Given the description of an element on the screen output the (x, y) to click on. 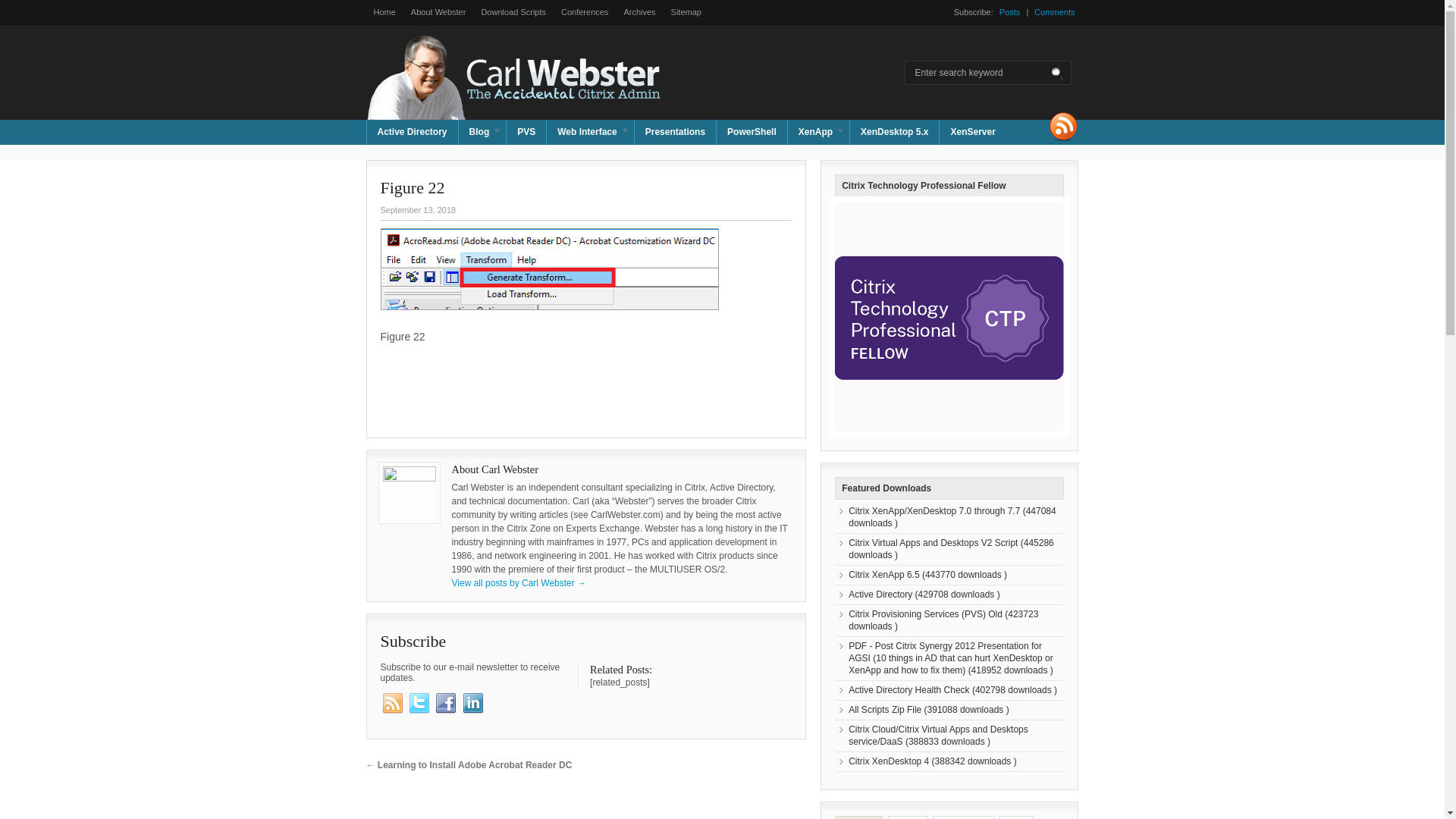
Web Interface (590, 131)
Version 4.34 (943, 620)
Presentations (675, 131)
Follow us on Twitter (418, 702)
PVS (526, 131)
Version 2.52 (951, 548)
Blog (482, 131)
Conferences (584, 12)
Sitemap (686, 12)
XenApp (817, 131)
Download Scripts (513, 12)
Connect on Facebook (445, 702)
Home (384, 12)
Version 1.57 (952, 517)
XenDesktop 5.x (894, 131)
